Given the description of an element on the screen output the (x, y) to click on. 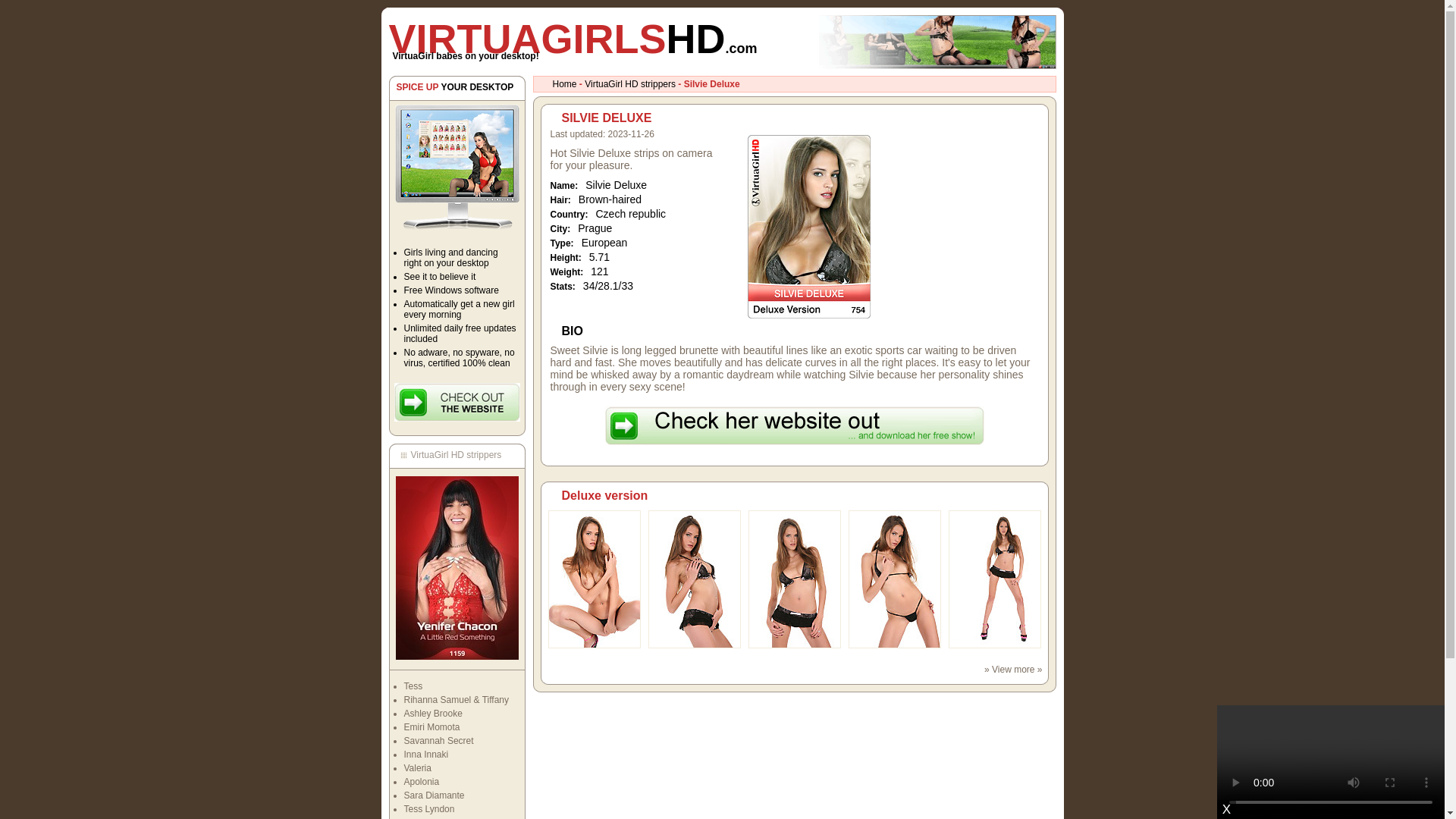
Inna Innaki (425, 754)
Tess Lyndon (428, 808)
Silvie Deluxe - Deluxe version - 3 (794, 644)
Deluxe version (603, 495)
Tess (412, 685)
VIRTUAGIRLSHD.com (572, 38)
Home (563, 83)
Ashley Brooke (432, 713)
Apolonia (421, 781)
Valeria (416, 767)
